Given the description of an element on the screen output the (x, y) to click on. 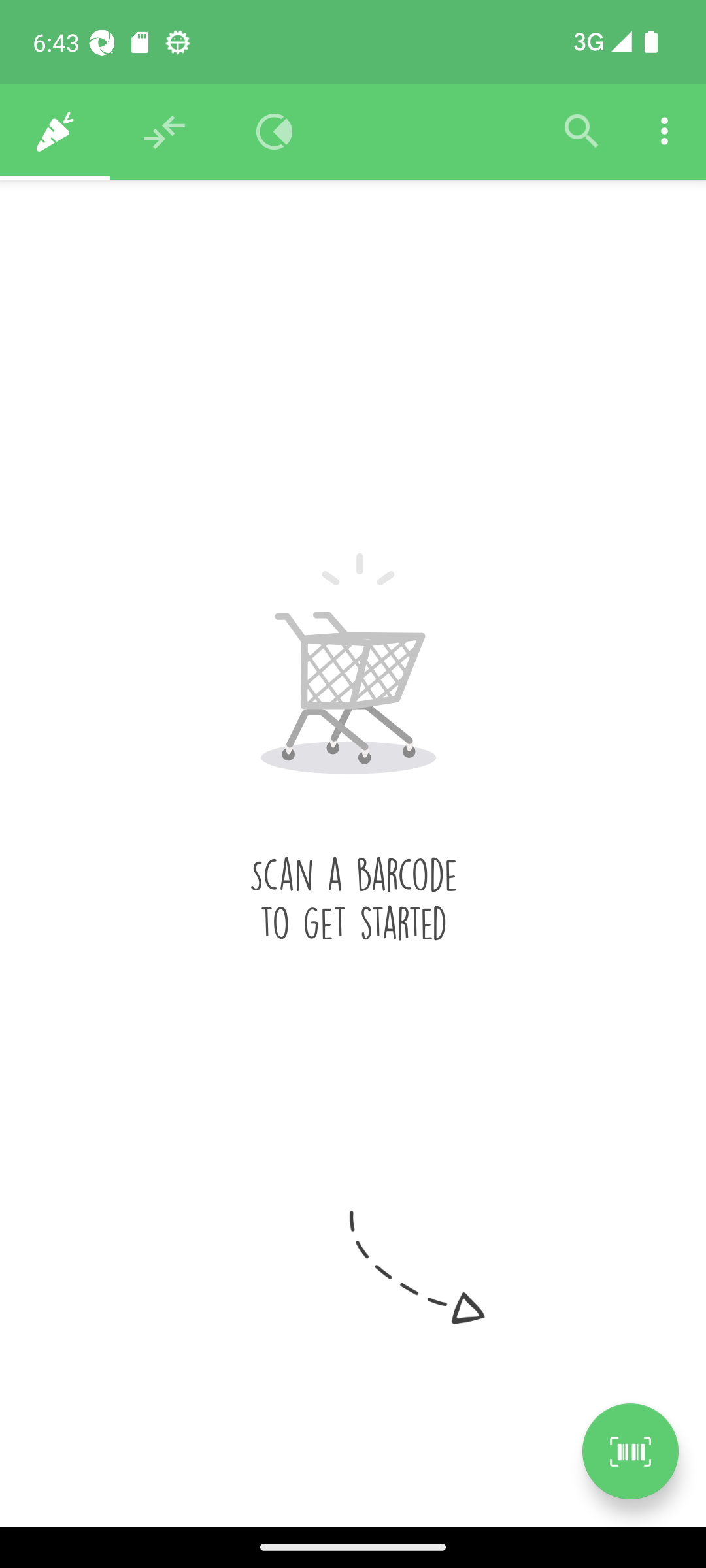
Recommendations (164, 131)
Overview (274, 131)
Filter (581, 131)
Settings (664, 131)
Scan a product (630, 1451)
